Given the description of an element on the screen output the (x, y) to click on. 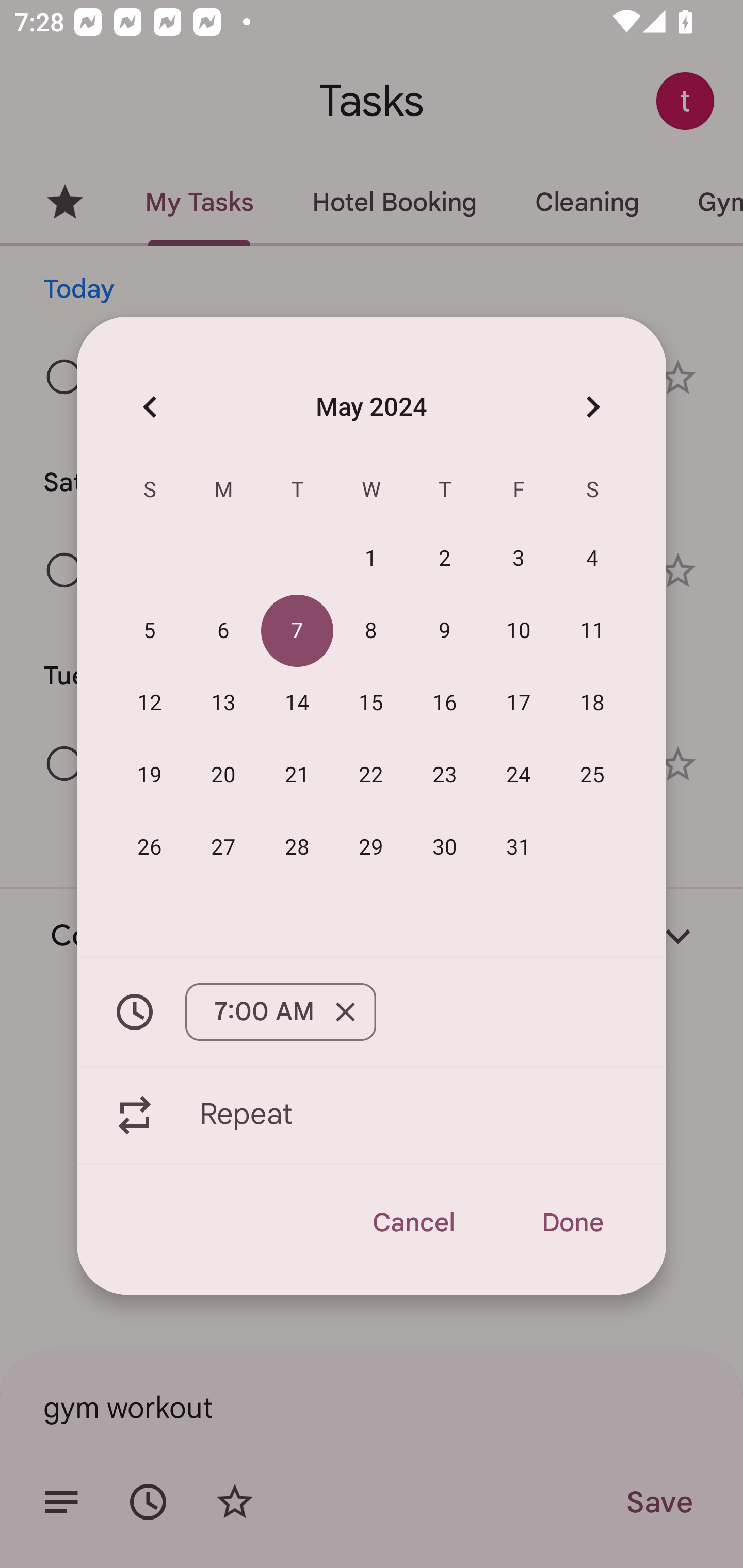
Previous month (149, 406)
Next month (592, 406)
1 01 May 2024 (370, 558)
2 02 May 2024 (444, 558)
3 03 May 2024 (518, 558)
4 04 May 2024 (592, 558)
5 05 May 2024 (149, 630)
6 06 May 2024 (223, 630)
7 07 May 2024 (297, 630)
8 08 May 2024 (370, 630)
9 09 May 2024 (444, 630)
10 10 May 2024 (518, 630)
11 11 May 2024 (592, 630)
12 12 May 2024 (149, 702)
13 13 May 2024 (223, 702)
14 14 May 2024 (297, 702)
15 15 May 2024 (370, 702)
16 16 May 2024 (444, 702)
17 17 May 2024 (518, 702)
18 18 May 2024 (592, 702)
19 19 May 2024 (149, 774)
20 20 May 2024 (223, 774)
21 21 May 2024 (297, 774)
22 22 May 2024 (370, 774)
23 23 May 2024 (444, 774)
24 24 May 2024 (518, 774)
25 25 May 2024 (592, 774)
26 26 May 2024 (149, 846)
27 27 May 2024 (223, 846)
28 28 May 2024 (297, 846)
29 29 May 2024 (370, 846)
30 30 May 2024 (444, 846)
31 31 May 2024 (518, 846)
7:00 AM Remove 7:00 AM (371, 1012)
7:00 AM Remove 7:00 AM (280, 1012)
Repeat (371, 1114)
Cancel (412, 1222)
Done (571, 1222)
